Given the description of an element on the screen output the (x, y) to click on. 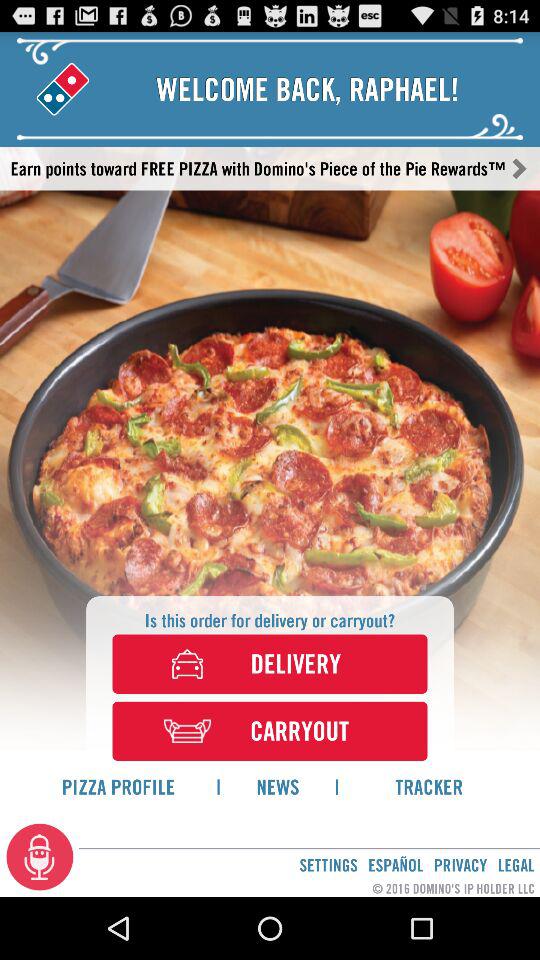
swipe to the privacy app (460, 864)
